Given the description of an element on the screen output the (x, y) to click on. 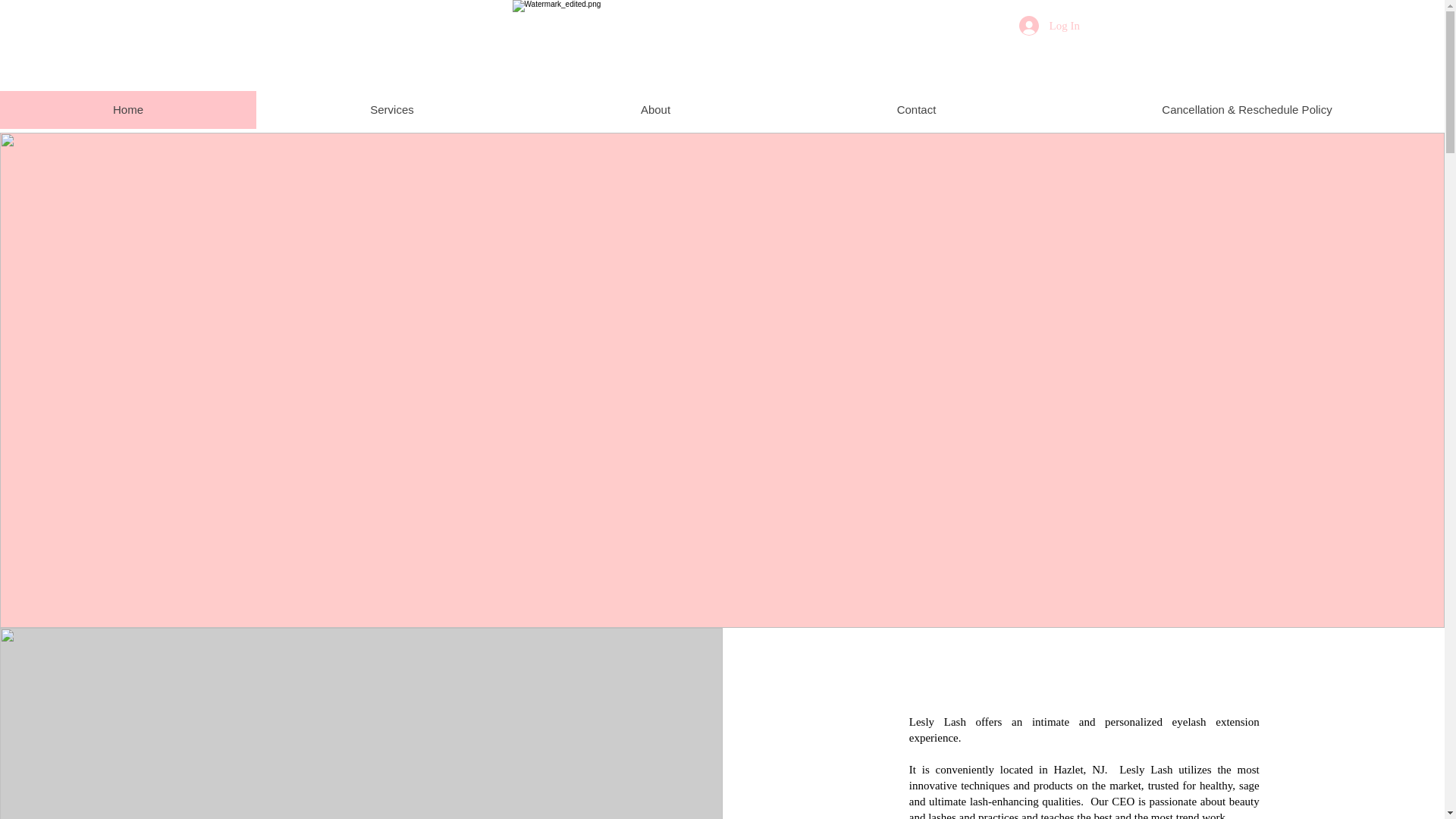
Home (128, 109)
Log In (1047, 25)
About (655, 109)
Services (391, 109)
Contact (915, 109)
